Given the description of an element on the screen output the (x, y) to click on. 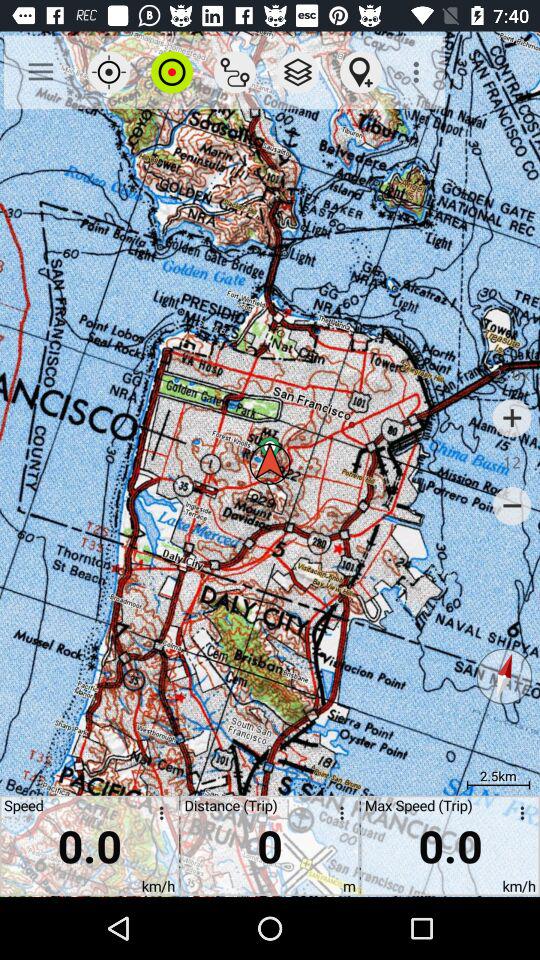
press the icon below the 2.0x (512, 418)
